Given the description of an element on the screen output the (x, y) to click on. 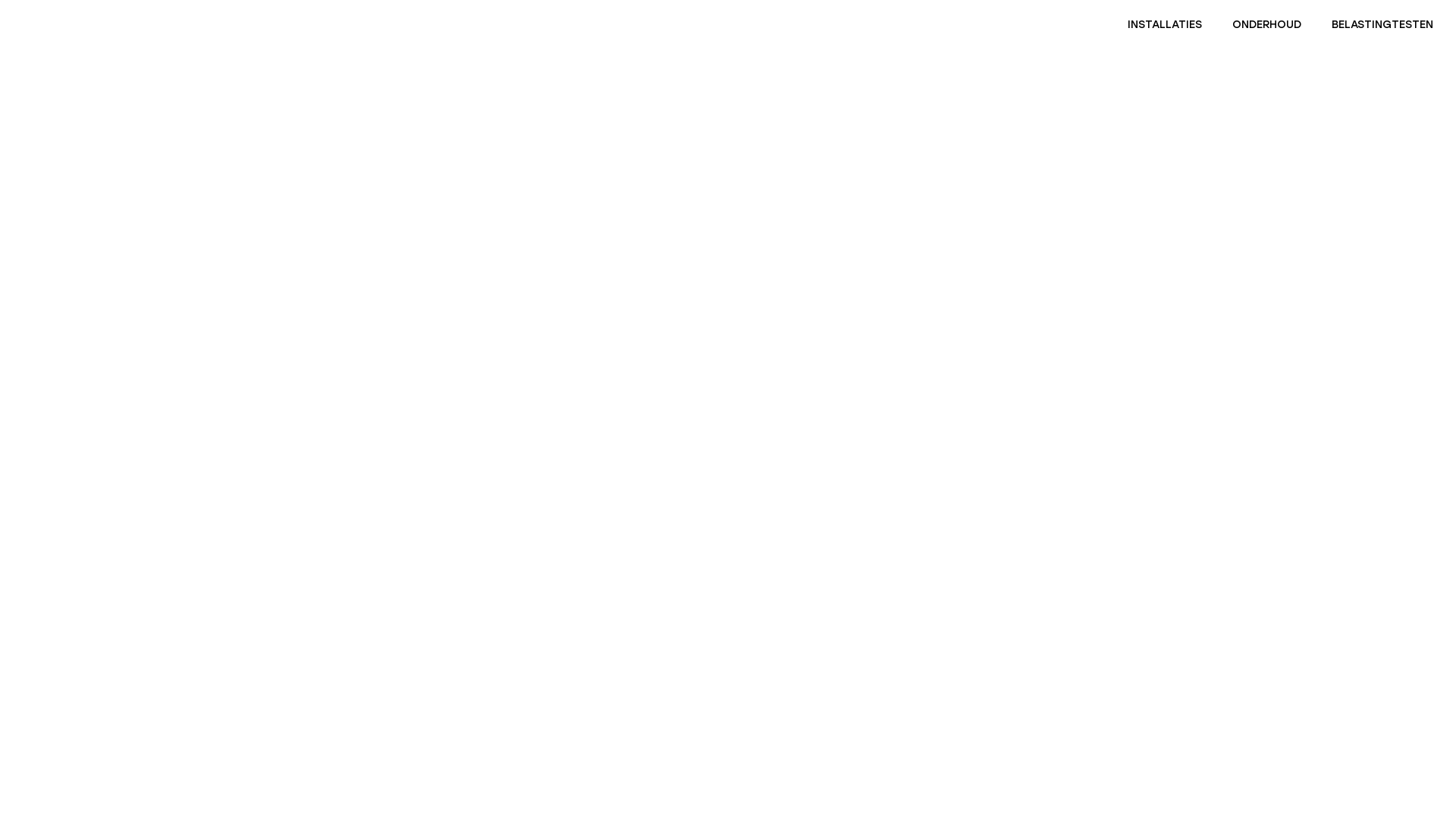
ONDERHOUD Element type: text (1266, 24)
BELASTINGTESTEN Element type: text (1382, 24)
INSTALLATIES Element type: text (1164, 24)
